Given the description of an element on the screen output the (x, y) to click on. 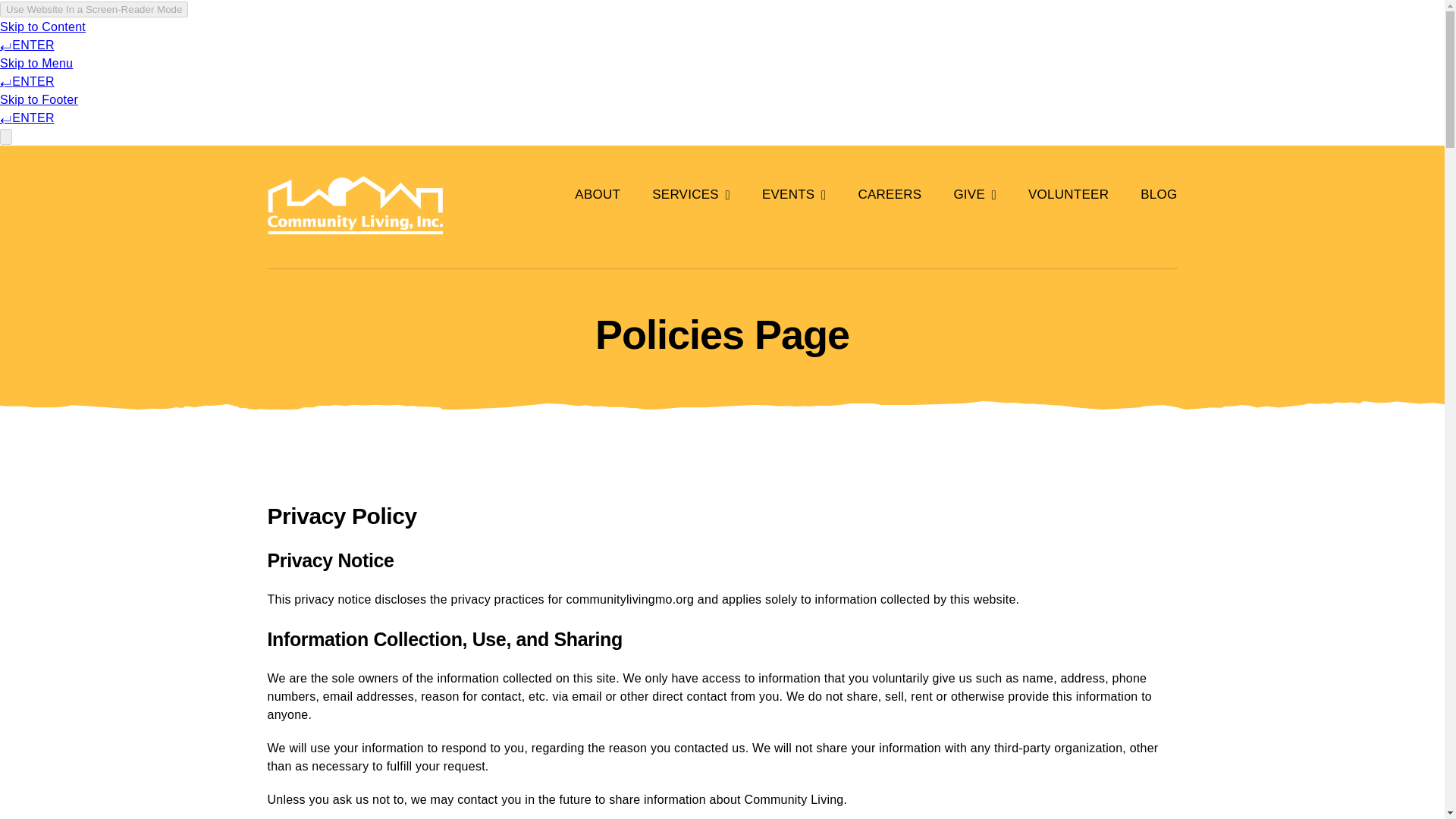
BLOG (1158, 194)
SERVICES (691, 194)
CAREERS (889, 194)
GIVE (974, 194)
VOLUNTEER (1067, 194)
ABOUT (597, 194)
EVENTS (794, 194)
